Given the description of an element on the screen output the (x, y) to click on. 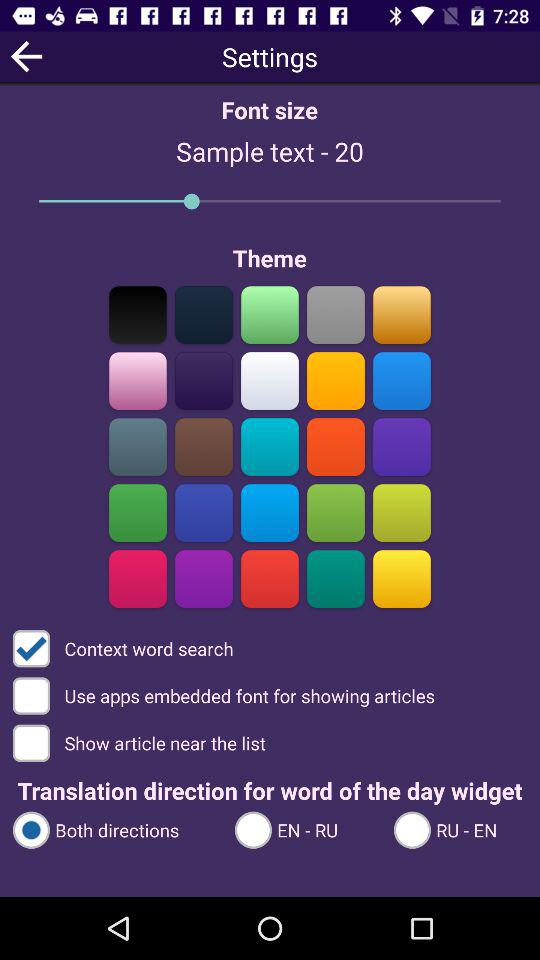
select the color bar (269, 380)
